Given the description of an element on the screen output the (x, y) to click on. 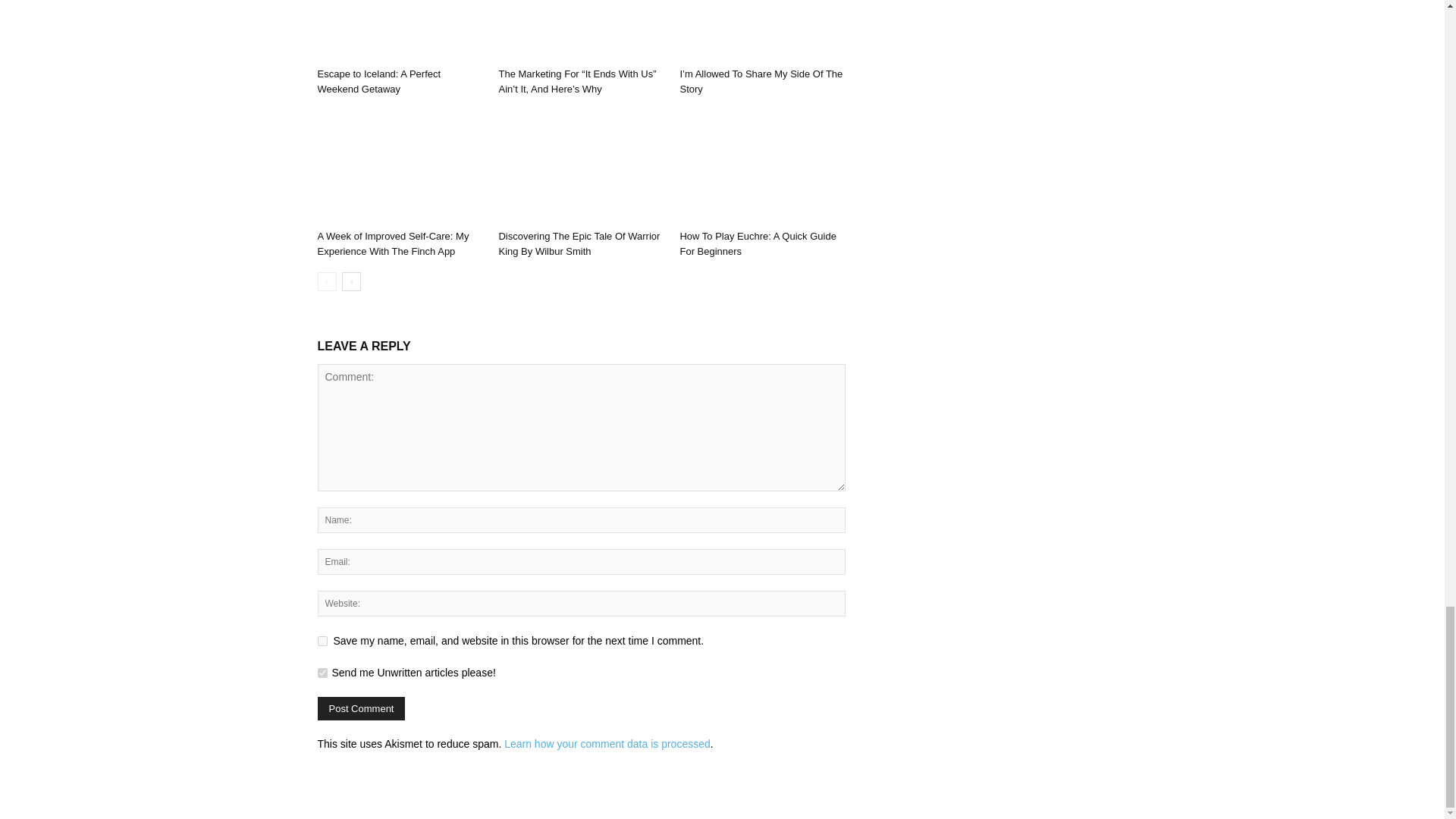
yes (321, 641)
Post Comment (360, 708)
1 (321, 673)
